Given the description of an element on the screen output the (x, y) to click on. 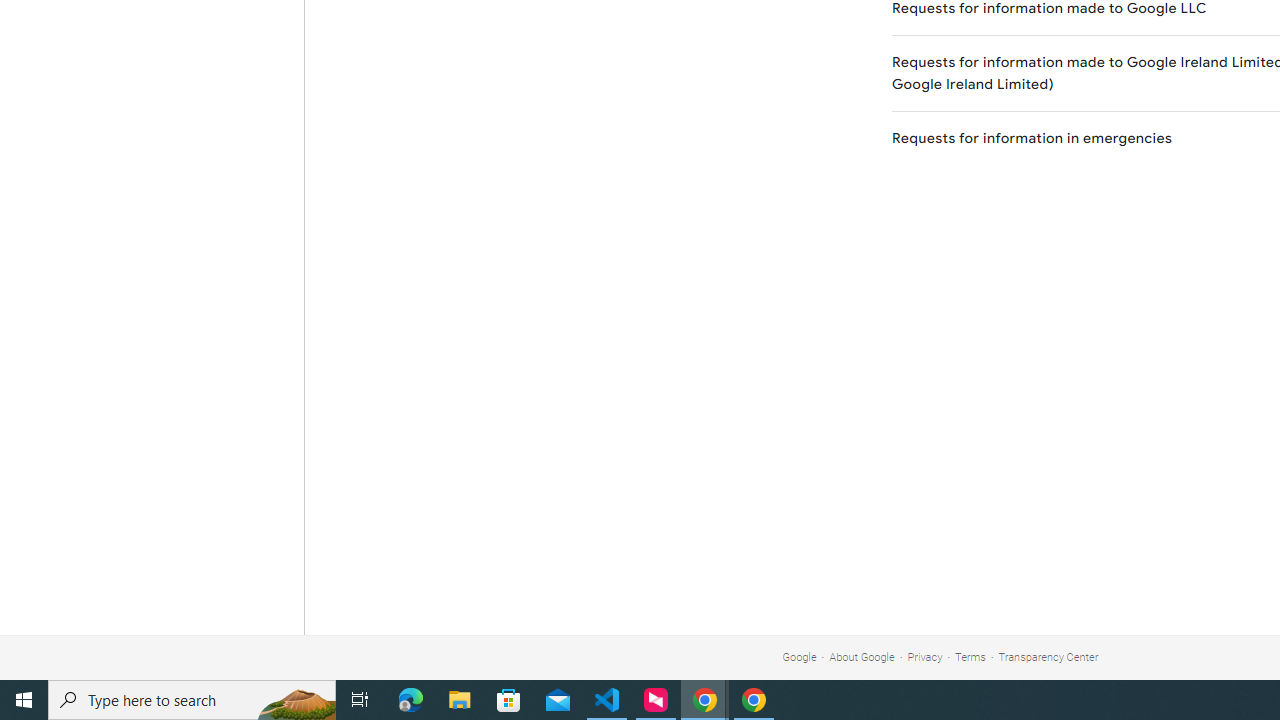
Google (799, 656)
Privacy (925, 656)
Transparency Center (1048, 656)
About Google (861, 656)
